Given the description of an element on the screen output the (x, y) to click on. 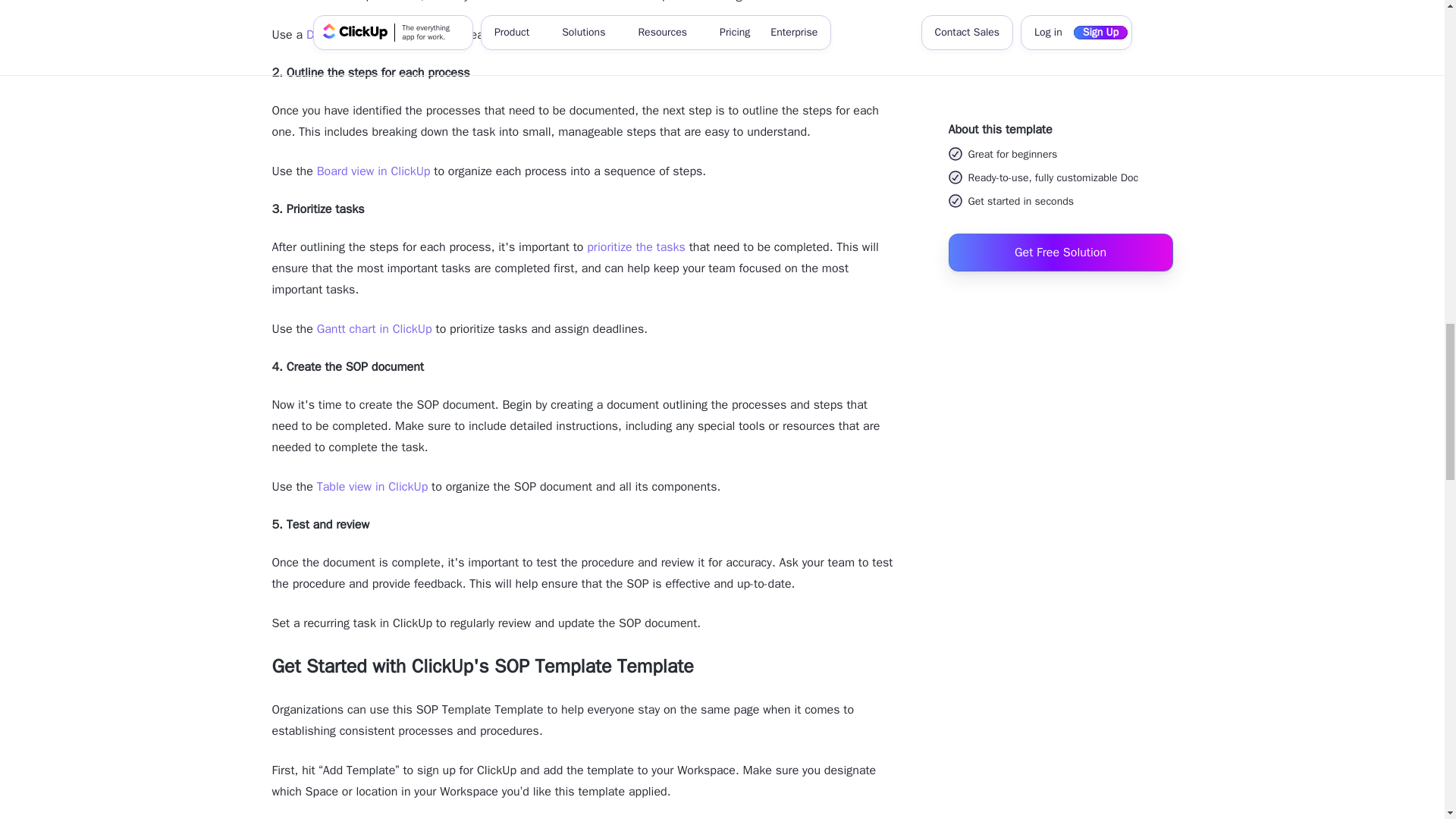
prioritize the tasks (635, 246)
Doc in ClickUp (343, 34)
Gantt chart in ClickUp (374, 328)
Board view in ClickUp (373, 171)
Table view in ClickUp (372, 486)
